Given the description of an element on the screen output the (x, y) to click on. 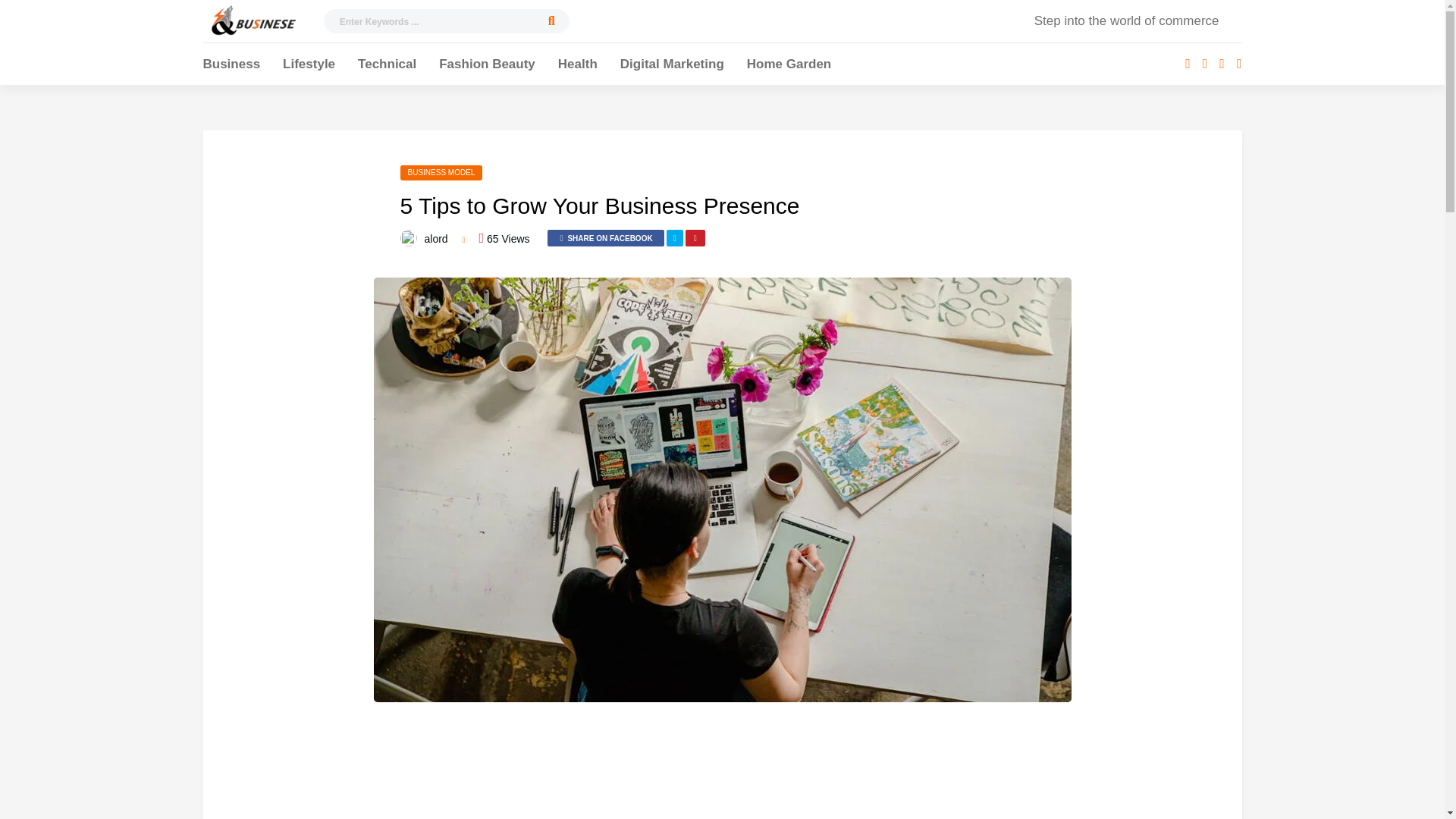
Home Garden (788, 65)
Business (231, 65)
Advertisement (722, 768)
Digital Marketing (671, 65)
Lifestyle (308, 65)
Health (576, 65)
Fashion Beauty (487, 65)
BUSINESS MODEL (441, 172)
alord (436, 238)
Technical (387, 65)
